Given the description of an element on the screen output the (x, y) to click on. 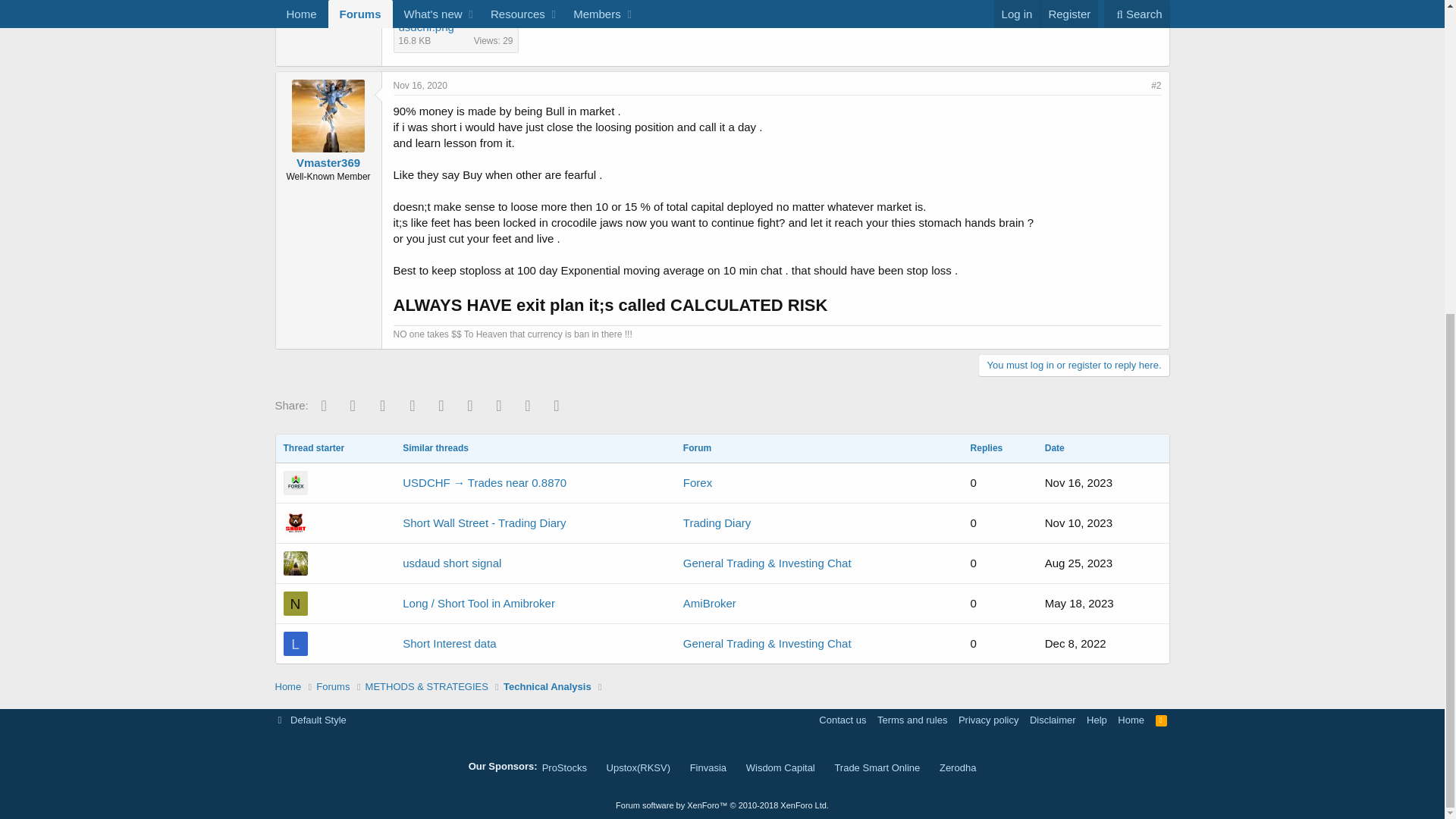
usdchf.png (426, 26)
Nov 16, 2020 at 7:00 PM (419, 85)
May 18, 2023 at 10:11 AM (1079, 603)
Dec 8, 2022 at 7:46 PM (1075, 643)
Aug 25, 2023 at 5:54 PM (1078, 562)
Nov 16, 2023 at 5:49 AM (1078, 481)
Nov 10, 2023 at 6:05 PM (1078, 522)
